Given the description of an element on the screen output the (x, y) to click on. 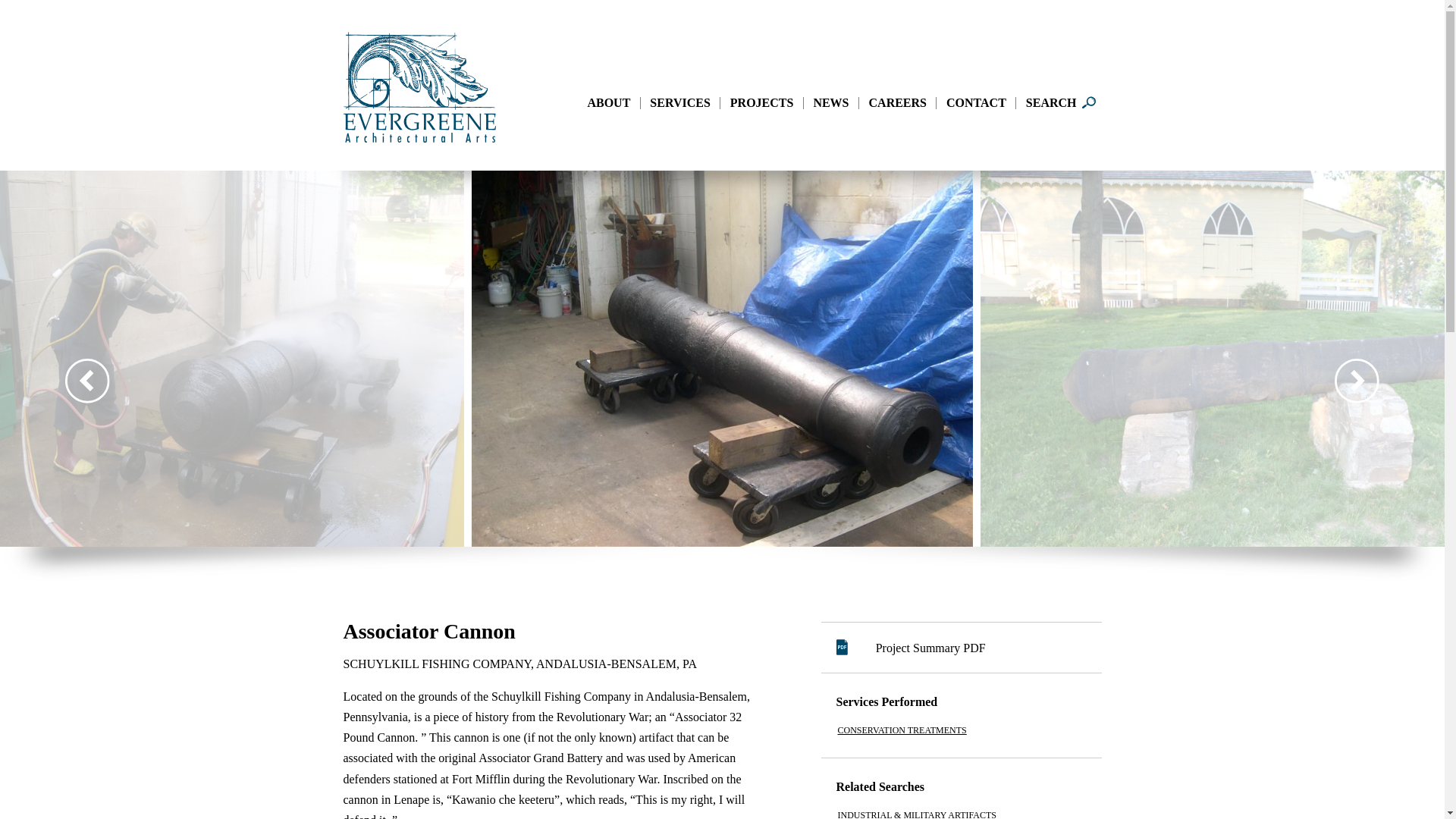
CONTACT (976, 102)
ABOUT (608, 102)
CAREERS (897, 102)
NEWS (830, 102)
SERVICES (679, 102)
SEARCH (1051, 102)
PROJECTS (761, 102)
